Given the description of an element on the screen output the (x, y) to click on. 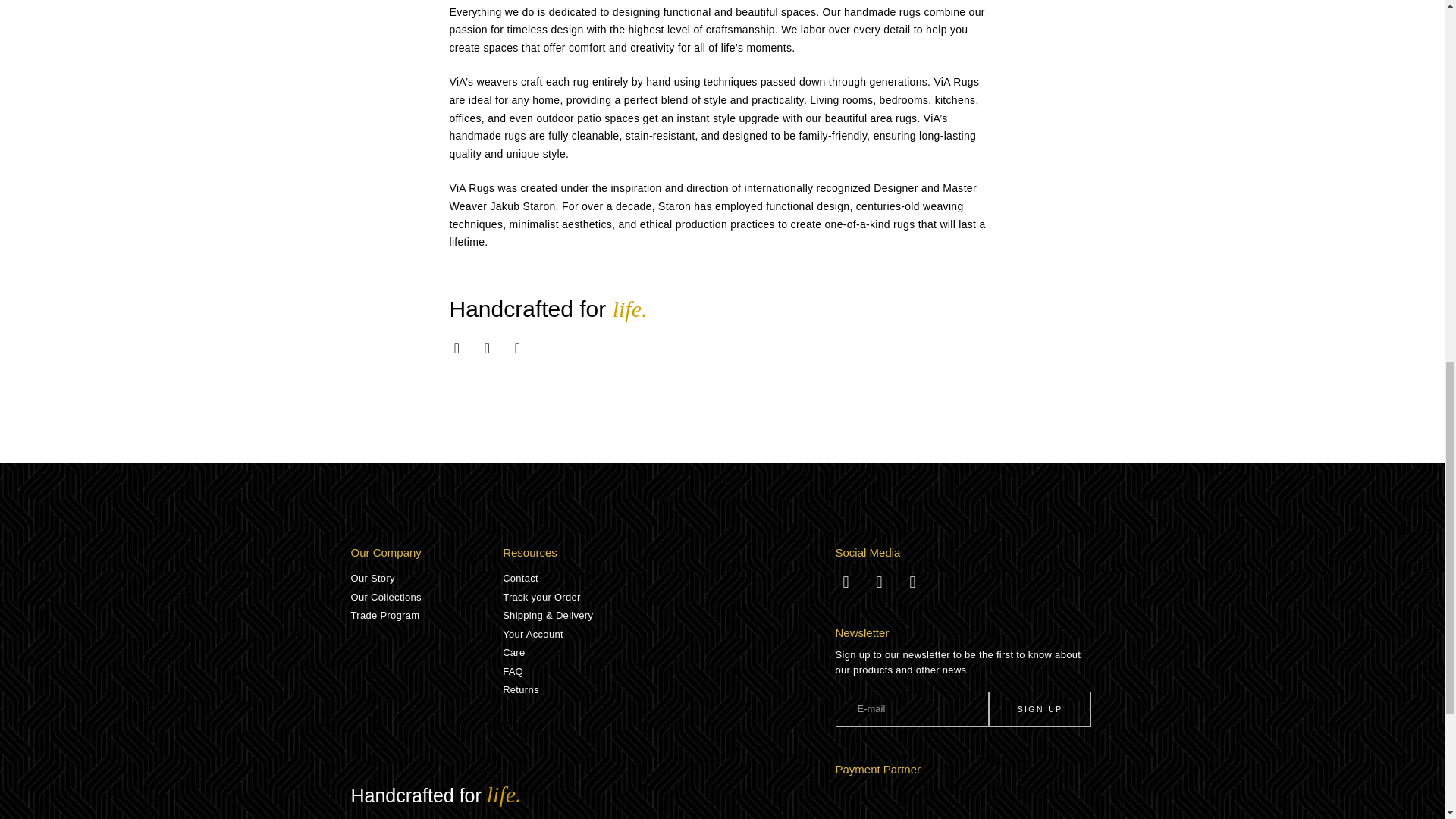
Our Story (426, 578)
Our Collections (426, 597)
Track your Order (668, 597)
Your Account (668, 634)
Trade Program (426, 615)
Returns (668, 689)
Contact (668, 578)
Care (668, 652)
FAQ (668, 671)
SIGN UP (1039, 709)
